Given the description of an element on the screen output the (x, y) to click on. 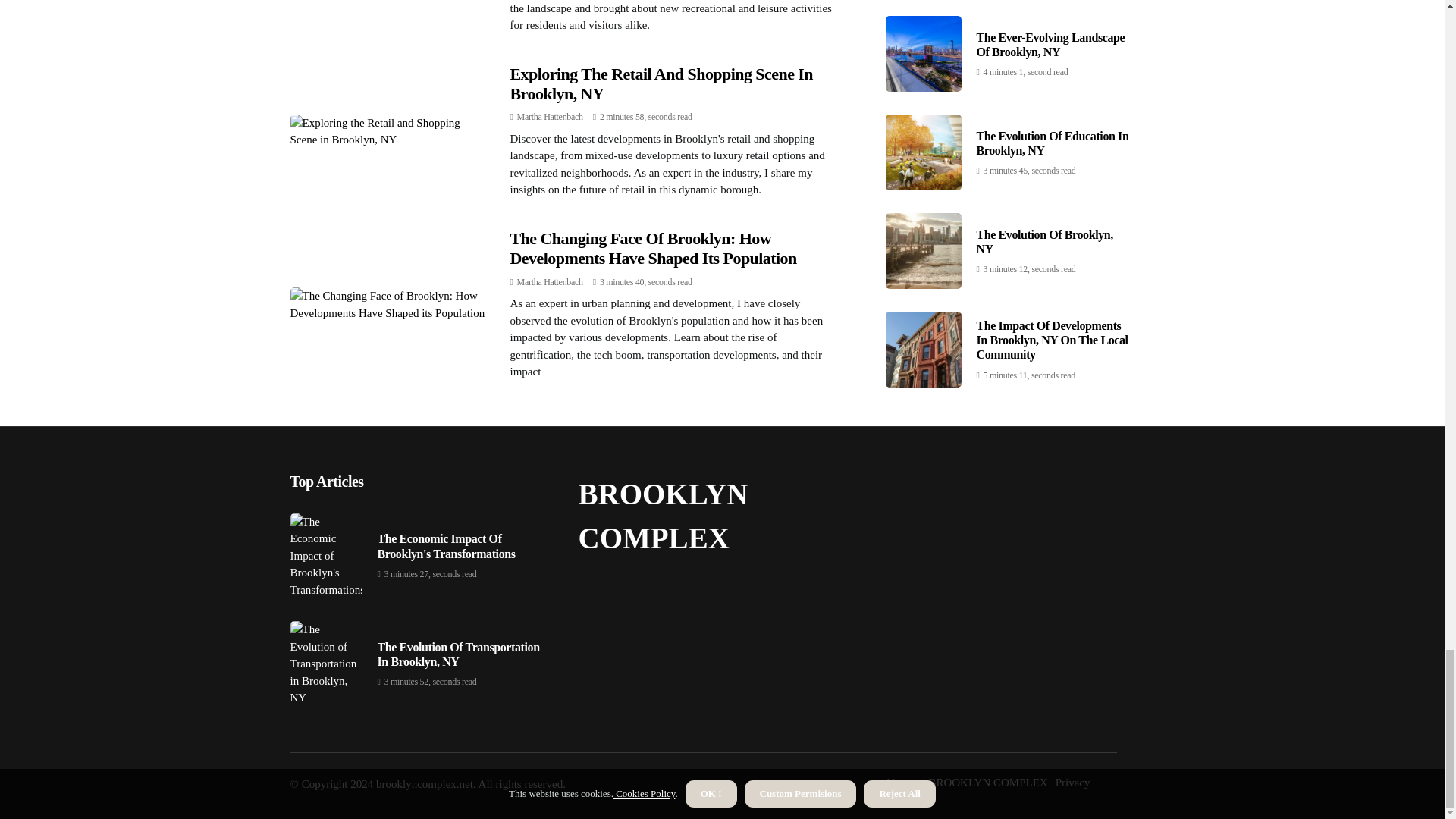
Exploring The Retail And Shopping Scene In Brooklyn, NY (660, 83)
Posts by Martha Hattenbach (549, 281)
Martha Hattenbach (549, 281)
Martha Hattenbach (549, 116)
Posts by Martha Hattenbach (549, 116)
